Given the description of an element on the screen output the (x, y) to click on. 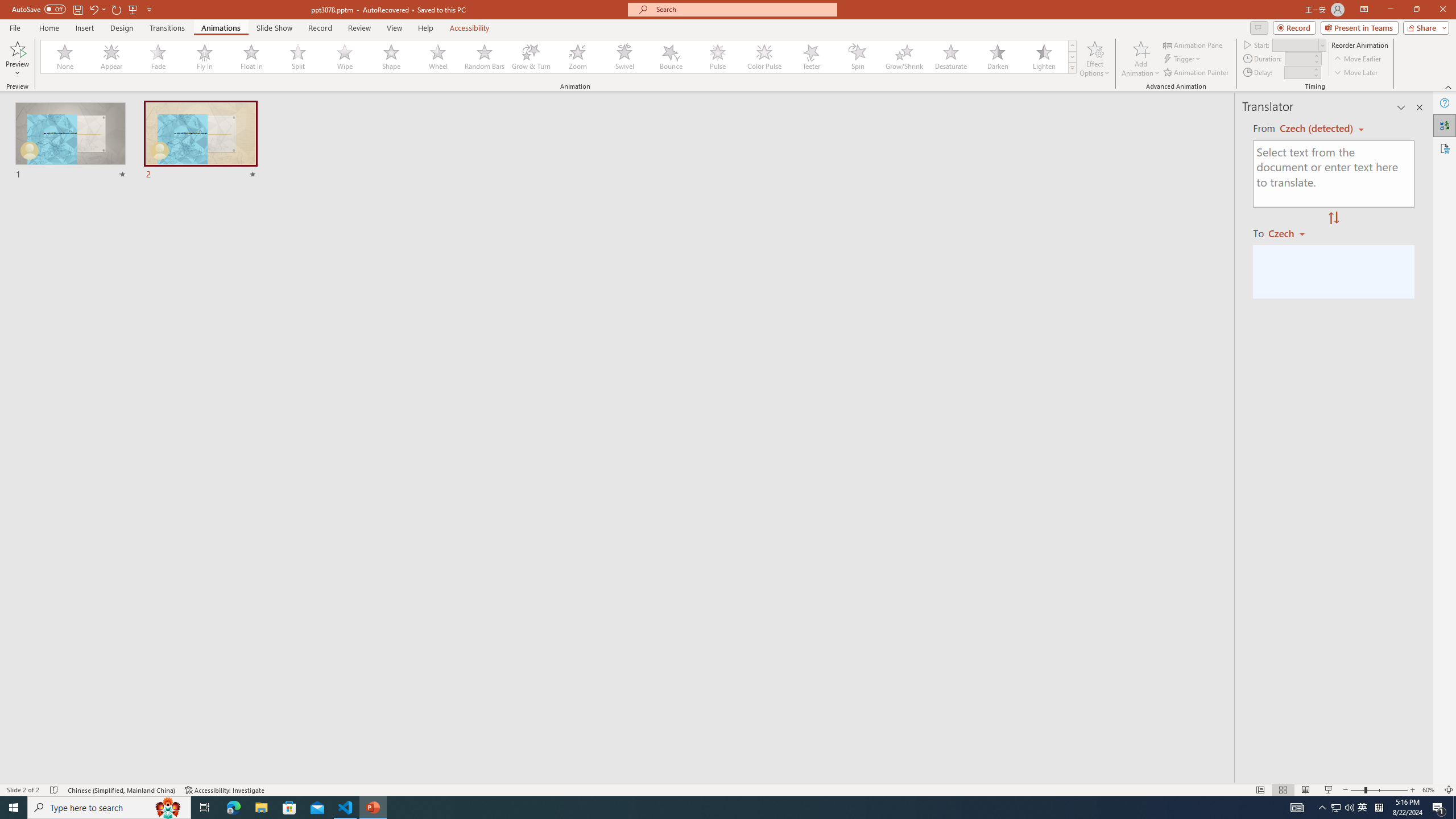
Wipe (344, 56)
Task Pane Options (1400, 107)
Add Animation (1141, 58)
Preview (17, 48)
Teeter (810, 56)
Start (1299, 44)
Spell Check No Errors (54, 790)
Open (1321, 44)
Accessibility (1444, 147)
Preview (17, 58)
